Given the description of an element on the screen output the (x, y) to click on. 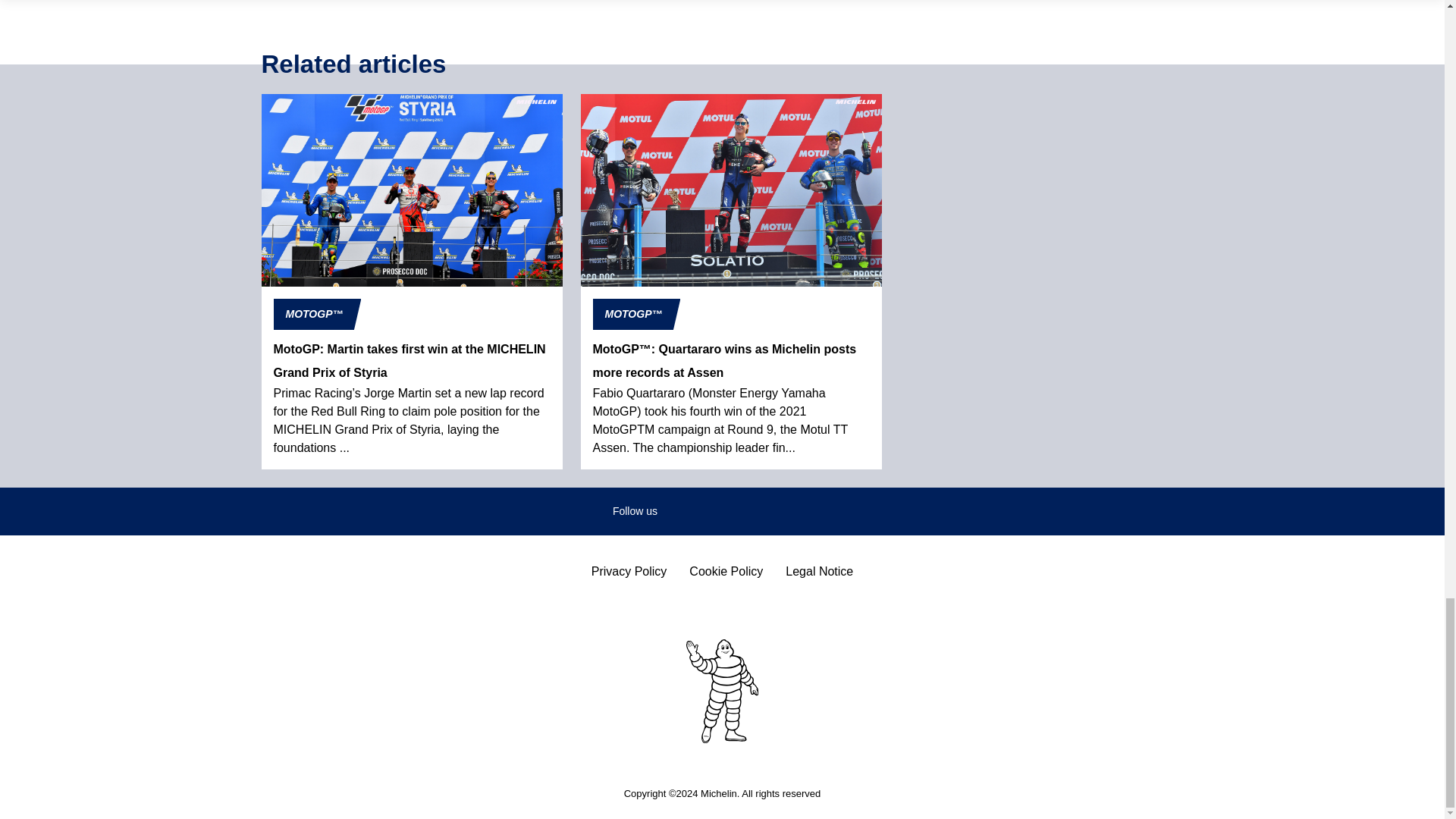
youtube (820, 511)
Legal Notice (819, 571)
facebook (683, 511)
twitter (729, 511)
Privacy Policy (628, 571)
youtube (820, 511)
instagram (774, 511)
instagram (774, 511)
twitter (729, 511)
Cookie Policy (725, 571)
facebook (683, 511)
